Given the description of an element on the screen output the (x, y) to click on. 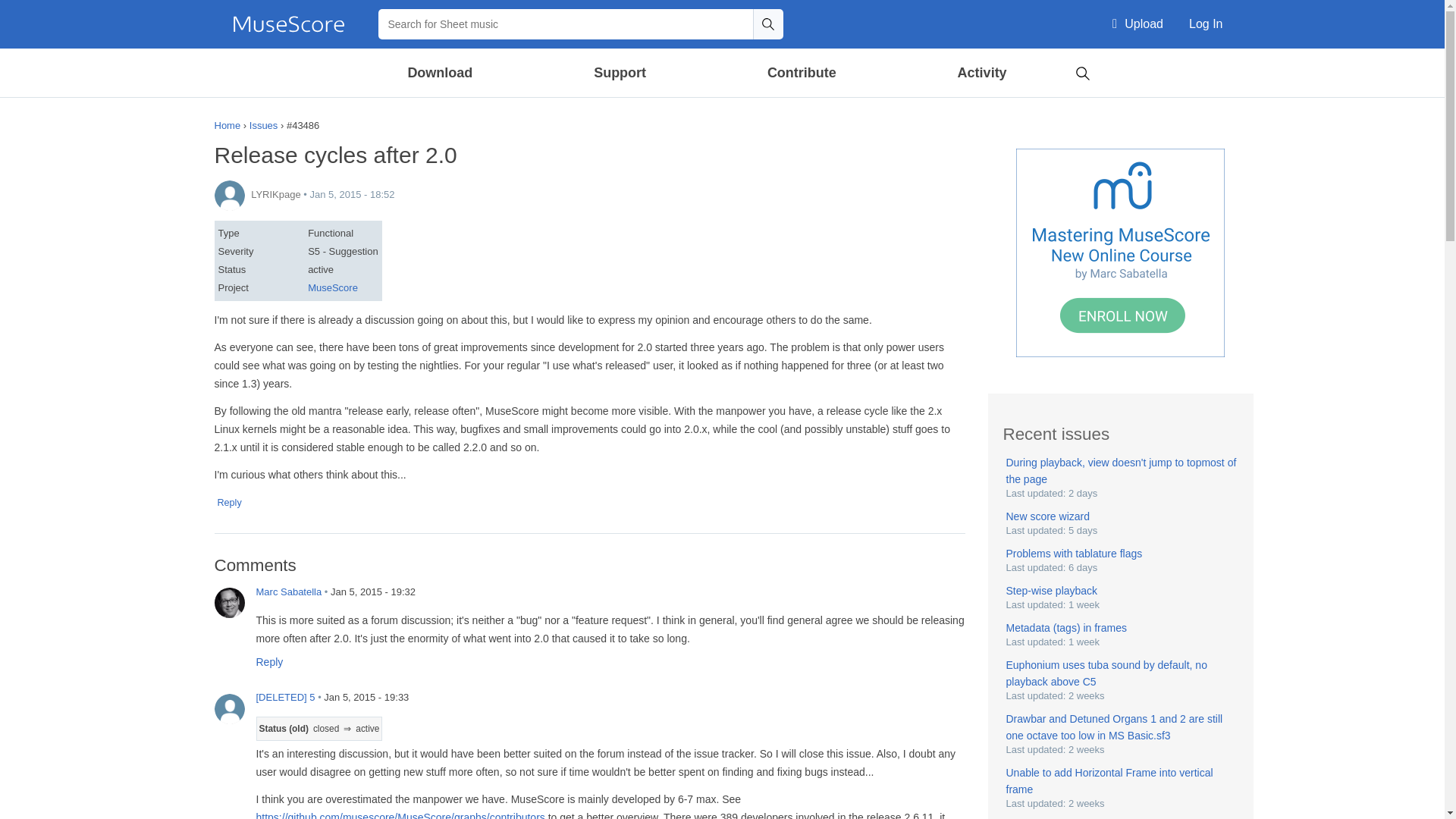
LYRIKpage (229, 195)
Search (767, 24)
Home (287, 23)
Support (619, 72)
Log In (1205, 24)
Marc Sabatella (229, 603)
Upload (1137, 24)
Search (1082, 71)
MuseScore (287, 23)
